Given the description of an element on the screen output the (x, y) to click on. 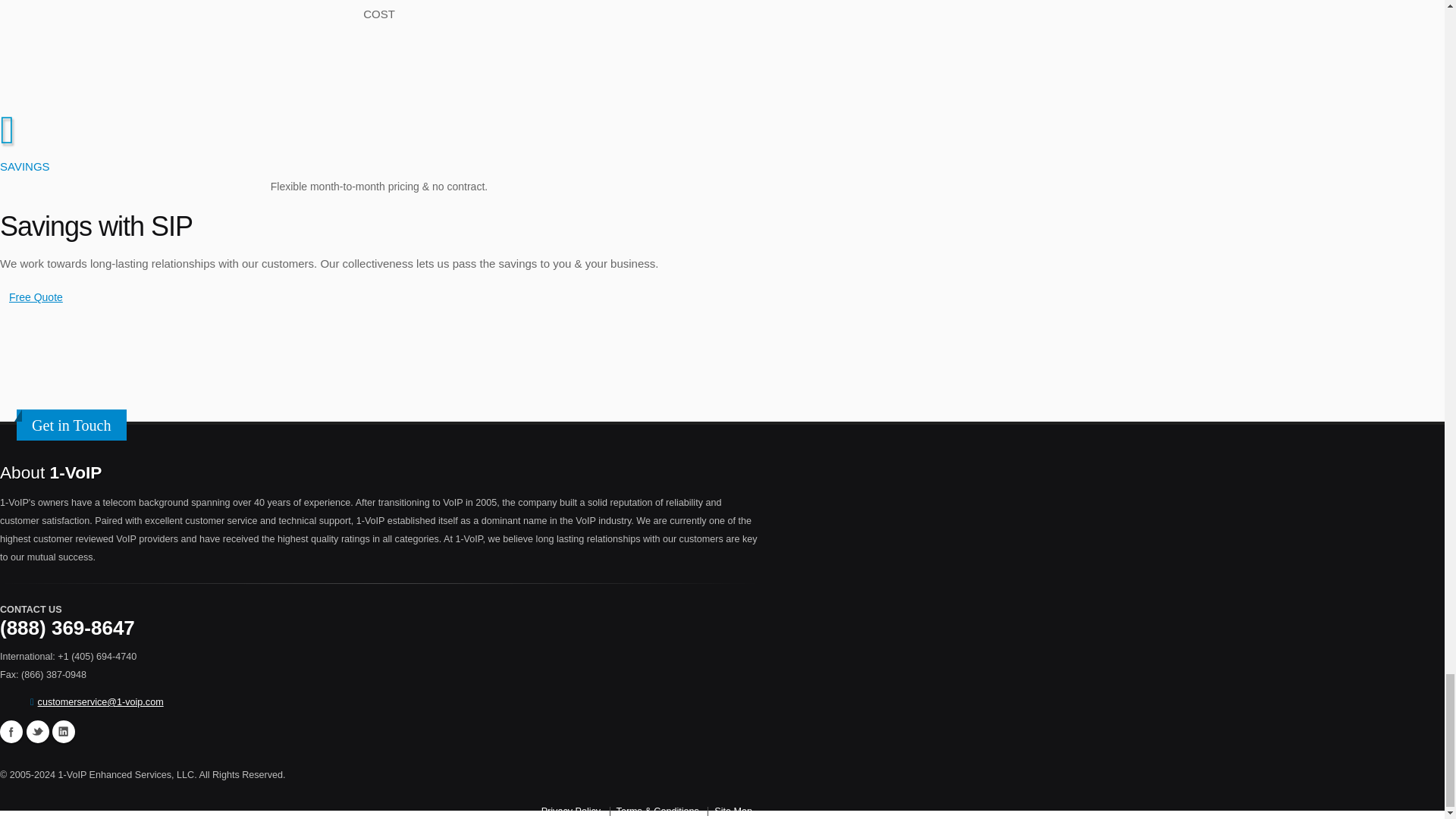
Site Map (733, 810)
Linkedin (63, 731)
Facebook (11, 731)
Privacy Policy (570, 810)
Twitter (37, 731)
Free Quote (35, 297)
